Given the description of an element on the screen output the (x, y) to click on. 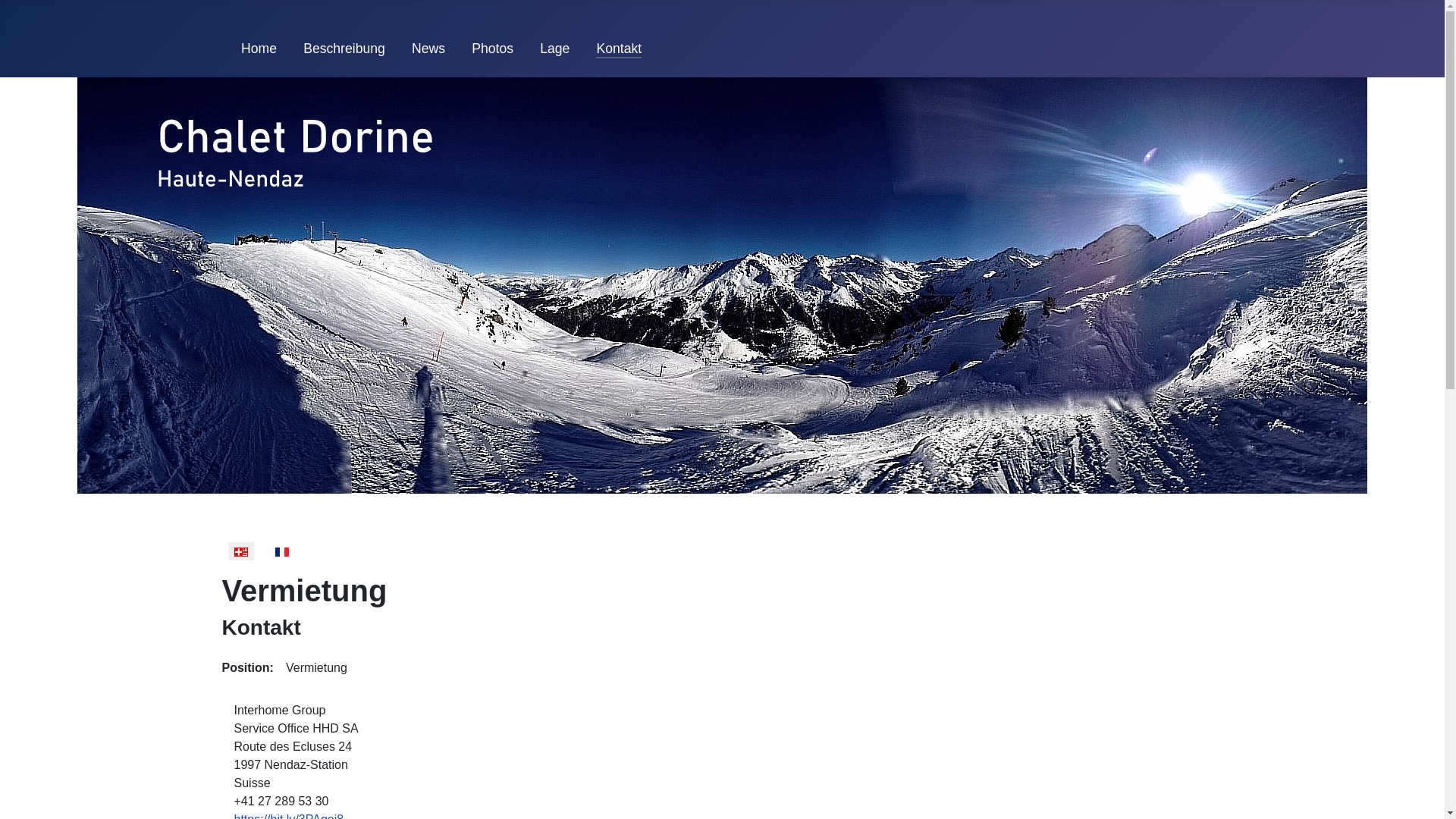
Photos Element type: text (492, 48)
Deutsch (Deutschland) Element type: hover (240, 551)
Beschreibung Element type: text (344, 48)
Home Element type: text (258, 48)
News Element type: text (428, 48)
Lage Element type: text (554, 48)
Kontakt Element type: text (618, 48)
